Given the description of an element on the screen output the (x, y) to click on. 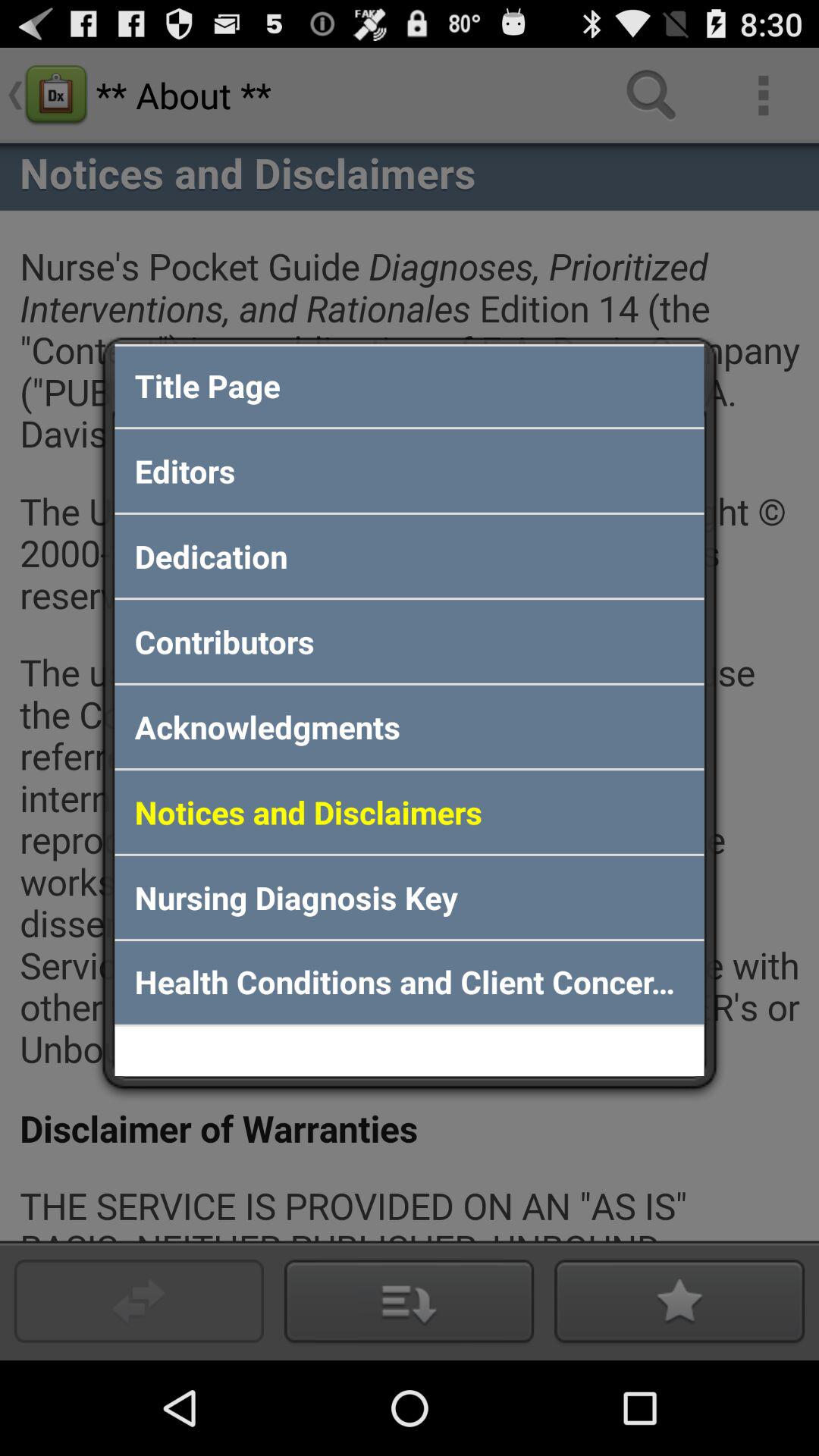
launch the app below nursing diagnosis key icon (409, 982)
